Given the description of an element on the screen output the (x, y) to click on. 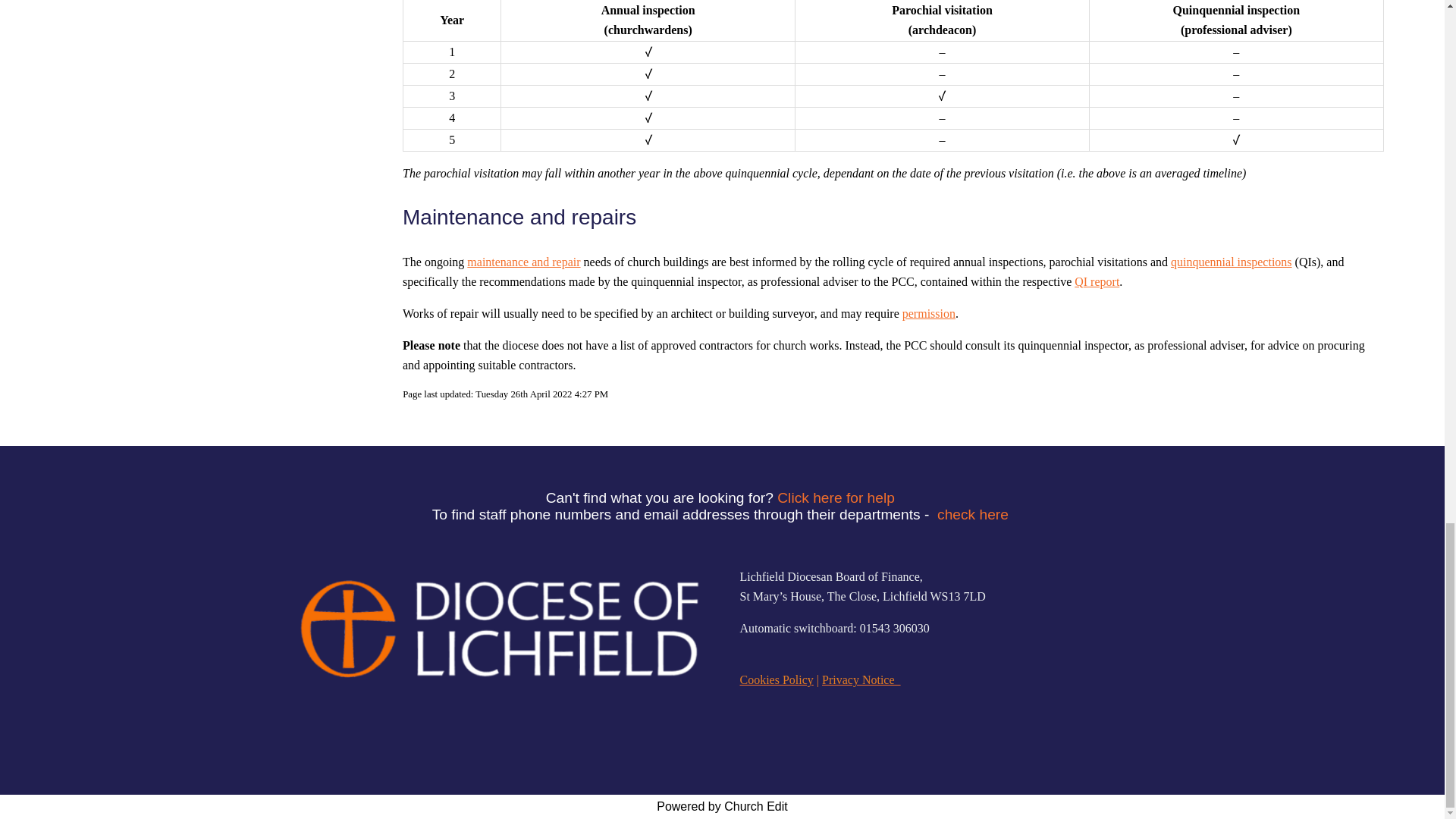
Logo (497, 627)
